Given the description of an element on the screen output the (x, y) to click on. 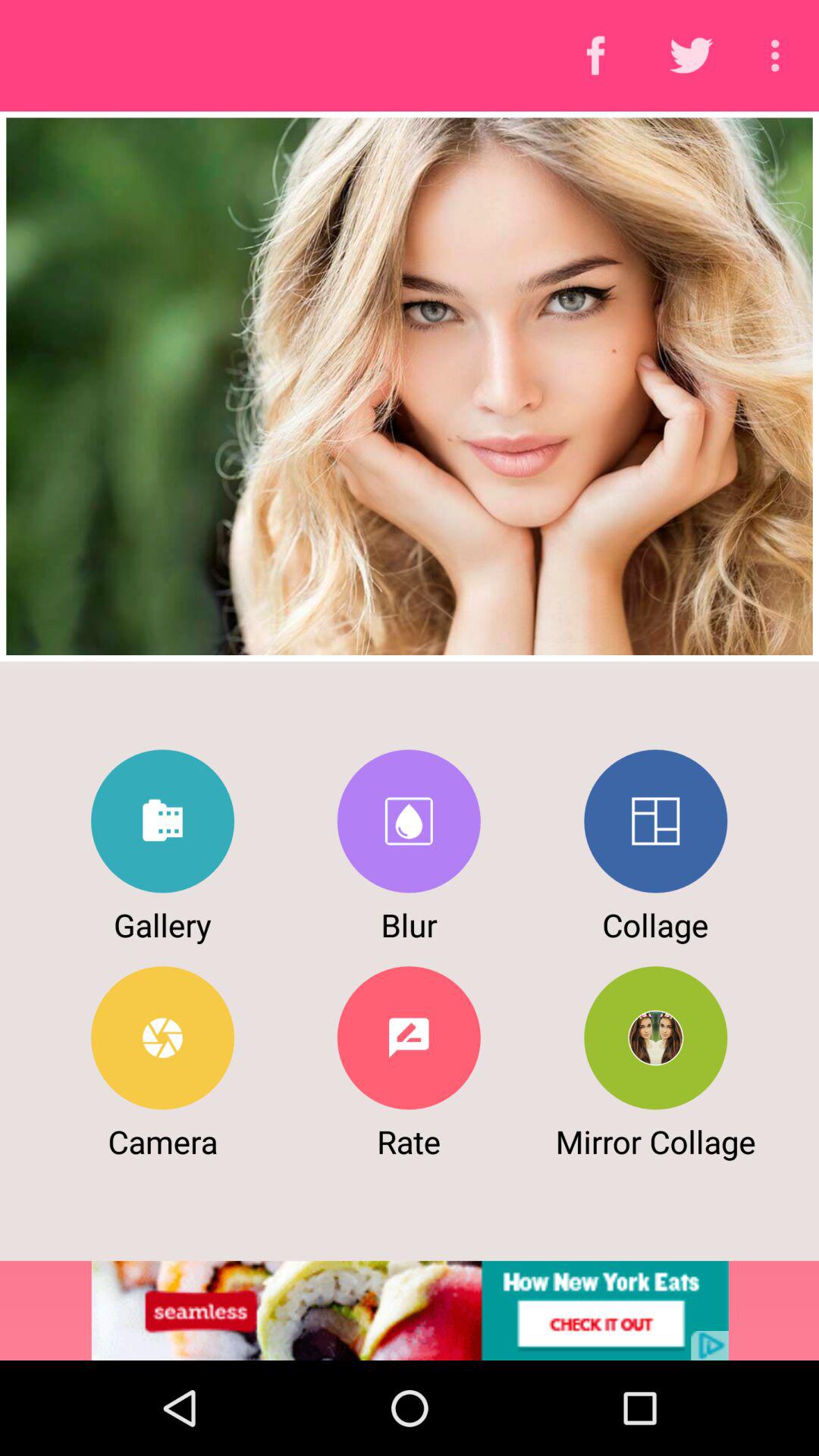
open advertisements (409, 1310)
